Given the description of an element on the screen output the (x, y) to click on. 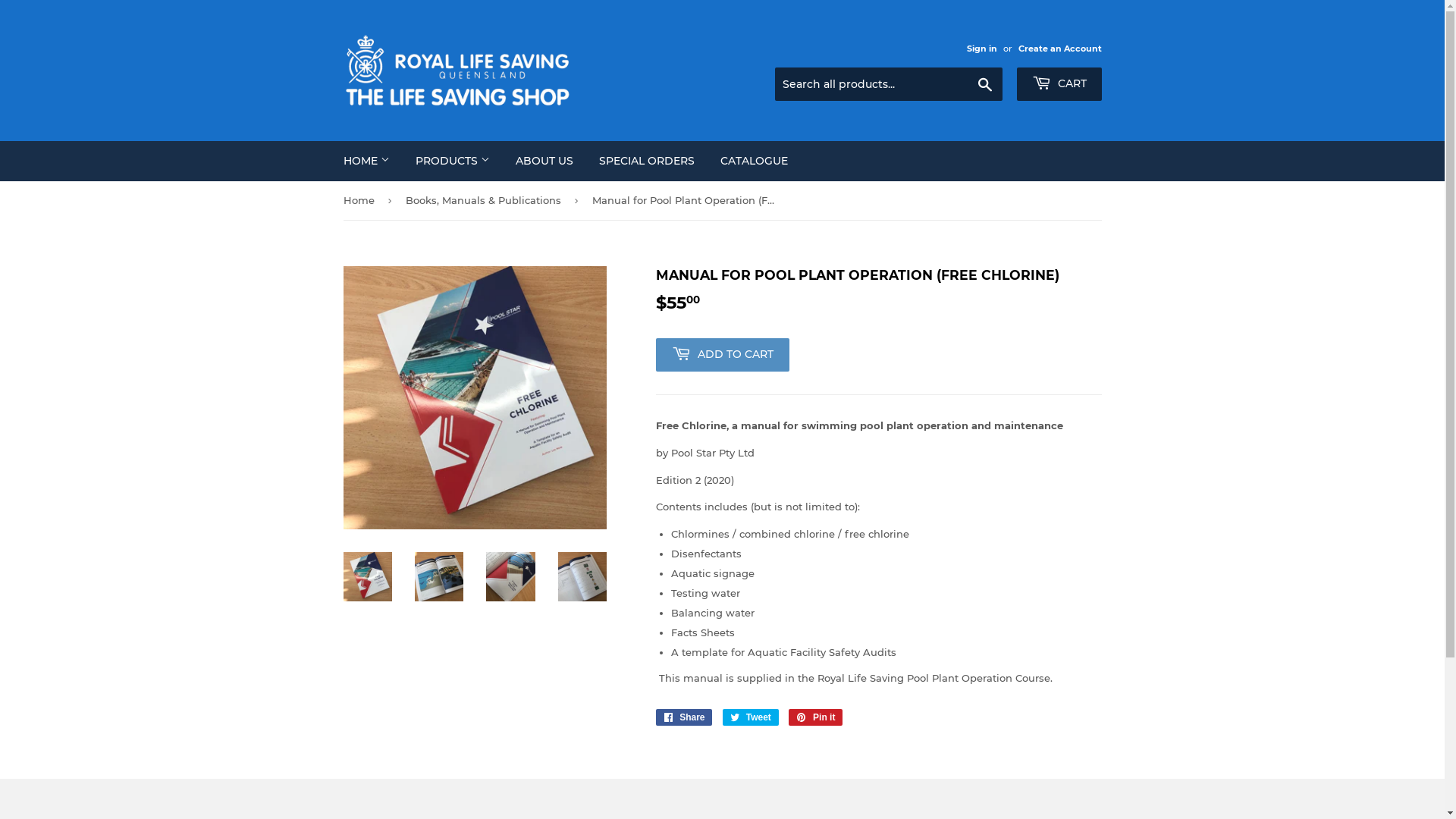
Home Element type: text (360, 200)
Pin it
Pin on Pinterest Element type: text (815, 717)
Books, Manuals & Publications Element type: text (484, 200)
CART Element type: text (1058, 83)
Share
Share on Facebook Element type: text (683, 717)
PRODUCTS Element type: text (451, 160)
HOME Element type: text (366, 160)
CATALOGUE Element type: text (753, 160)
Sign in Element type: text (981, 48)
ABOUT US Element type: text (543, 160)
SPECIAL ORDERS Element type: text (645, 160)
ADD TO CART Element type: text (721, 354)
Tweet
Tweet on Twitter Element type: text (750, 717)
Search Element type: text (984, 84)
Create an Account Element type: text (1059, 48)
